Given the description of an element on the screen output the (x, y) to click on. 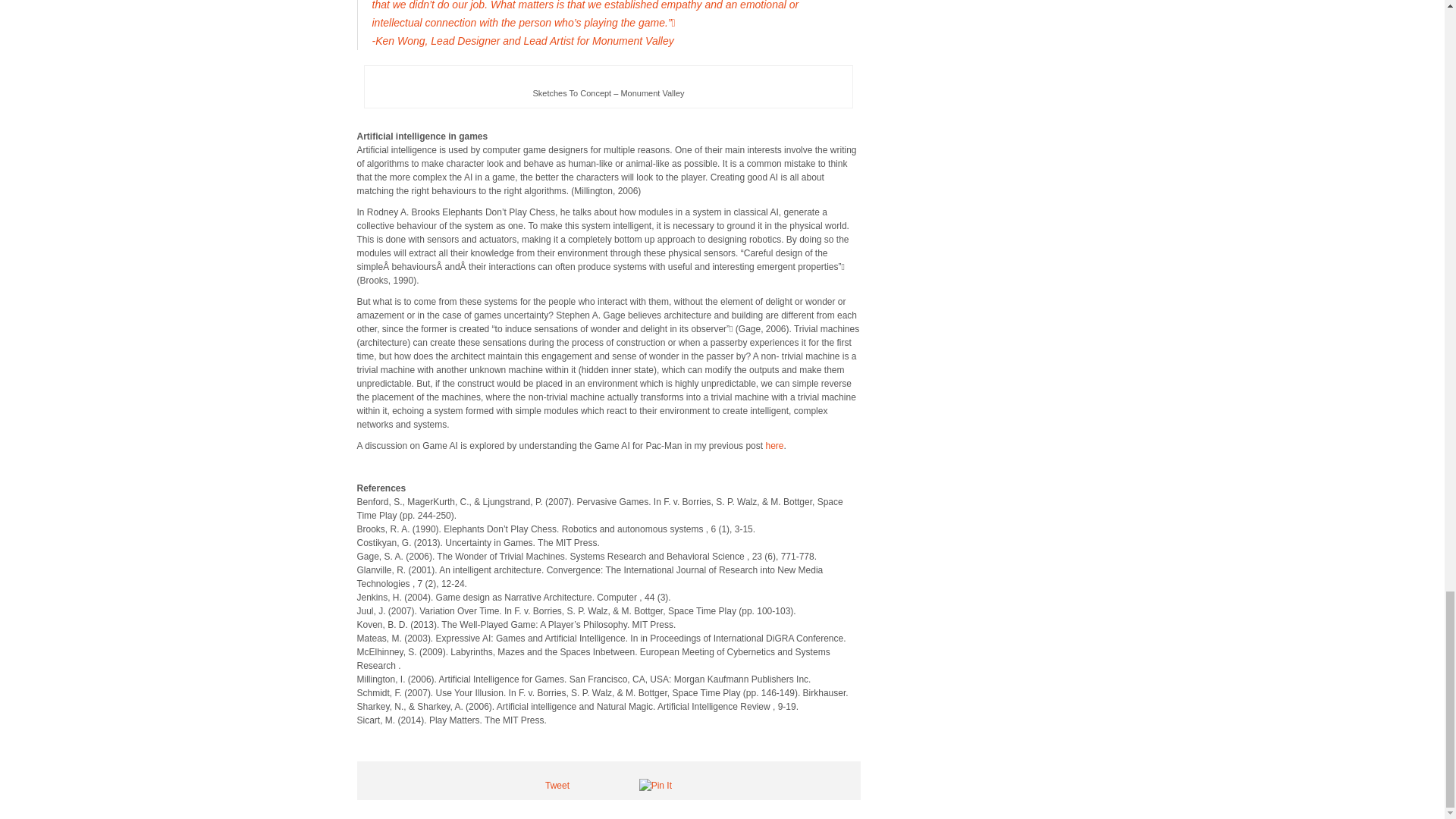
Tweet (556, 785)
here (774, 445)
Pin It (655, 785)
